Given the description of an element on the screen output the (x, y) to click on. 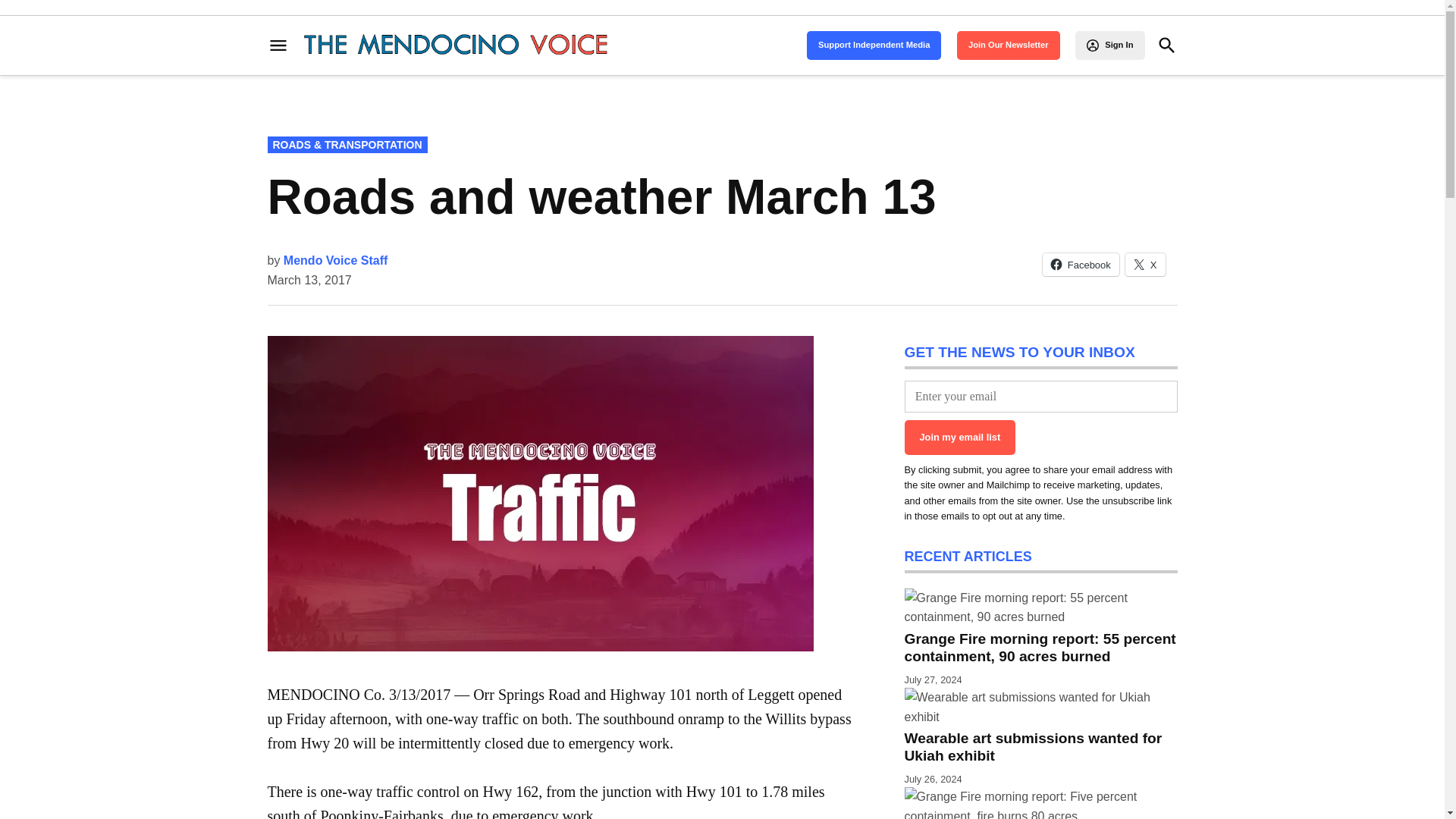
Enter your email (1040, 396)
Click to share on X (1145, 264)
Click to share on Facebook (1080, 264)
